Given the description of an element on the screen output the (x, y) to click on. 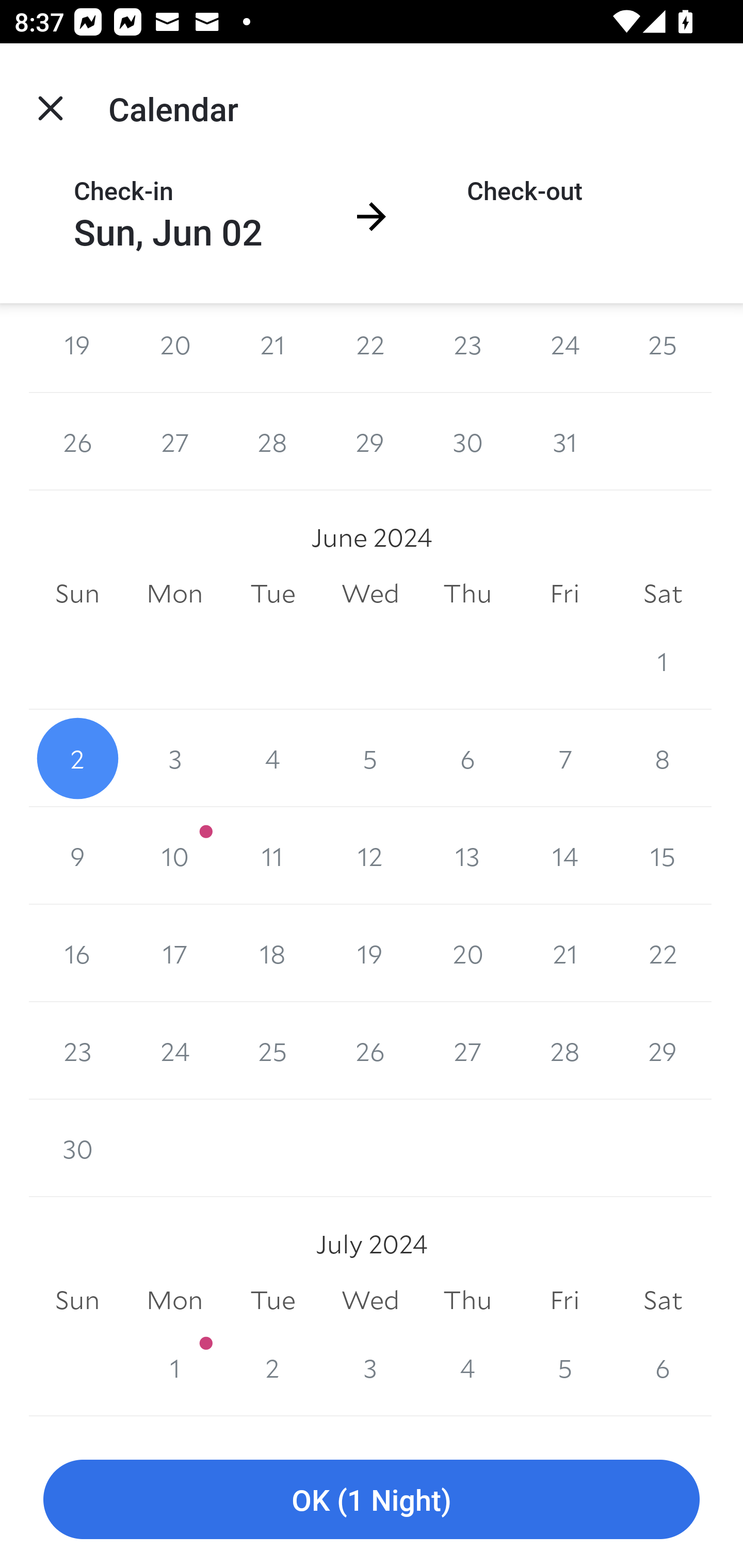
19 19 May 2024 (77, 347)
20 20 May 2024 (174, 347)
21 21 May 2024 (272, 347)
22 22 May 2024 (370, 347)
23 23 May 2024 (467, 347)
24 24 May 2024 (564, 347)
25 25 May 2024 (662, 347)
26 26 May 2024 (77, 441)
27 27 May 2024 (174, 441)
28 28 May 2024 (272, 441)
29 29 May 2024 (370, 441)
30 30 May 2024 (467, 441)
31 31 May 2024 (564, 441)
Sun (77, 593)
Mon (174, 593)
Tue (272, 593)
Wed (370, 593)
Thu (467, 593)
Fri (564, 593)
Sat (662, 593)
1 1 June 2024 (662, 660)
2 2 June 2024 (77, 758)
3 3 June 2024 (174, 758)
4 4 June 2024 (272, 758)
5 5 June 2024 (370, 758)
6 6 June 2024 (467, 758)
7 7 June 2024 (564, 758)
8 8 June 2024 (662, 758)
9 9 June 2024 (77, 855)
10 10 June 2024 (174, 855)
11 11 June 2024 (272, 855)
12 12 June 2024 (370, 855)
13 13 June 2024 (467, 855)
14 14 June 2024 (564, 855)
15 15 June 2024 (662, 855)
16 16 June 2024 (77, 952)
17 17 June 2024 (174, 952)
18 18 June 2024 (272, 952)
19 19 June 2024 (370, 952)
20 20 June 2024 (467, 952)
21 21 June 2024 (564, 952)
22 22 June 2024 (662, 952)
23 23 June 2024 (77, 1050)
24 24 June 2024 (174, 1050)
25 25 June 2024 (272, 1050)
26 26 June 2024 (370, 1050)
27 27 June 2024 (467, 1050)
28 28 June 2024 (564, 1050)
29 29 June 2024 (662, 1050)
30 30 June 2024 (77, 1147)
Sun (77, 1299)
Mon (174, 1299)
Tue (272, 1299)
Wed (370, 1299)
Thu (467, 1299)
Fri (564, 1299)
Sat (662, 1299)
1 1 July 2024 (174, 1366)
2 2 July 2024 (272, 1366)
3 3 July 2024 (370, 1366)
4 4 July 2024 (467, 1366)
5 5 July 2024 (564, 1366)
6 6 July 2024 (662, 1366)
OK (1 Night) (371, 1499)
